Given the description of an element on the screen output the (x, y) to click on. 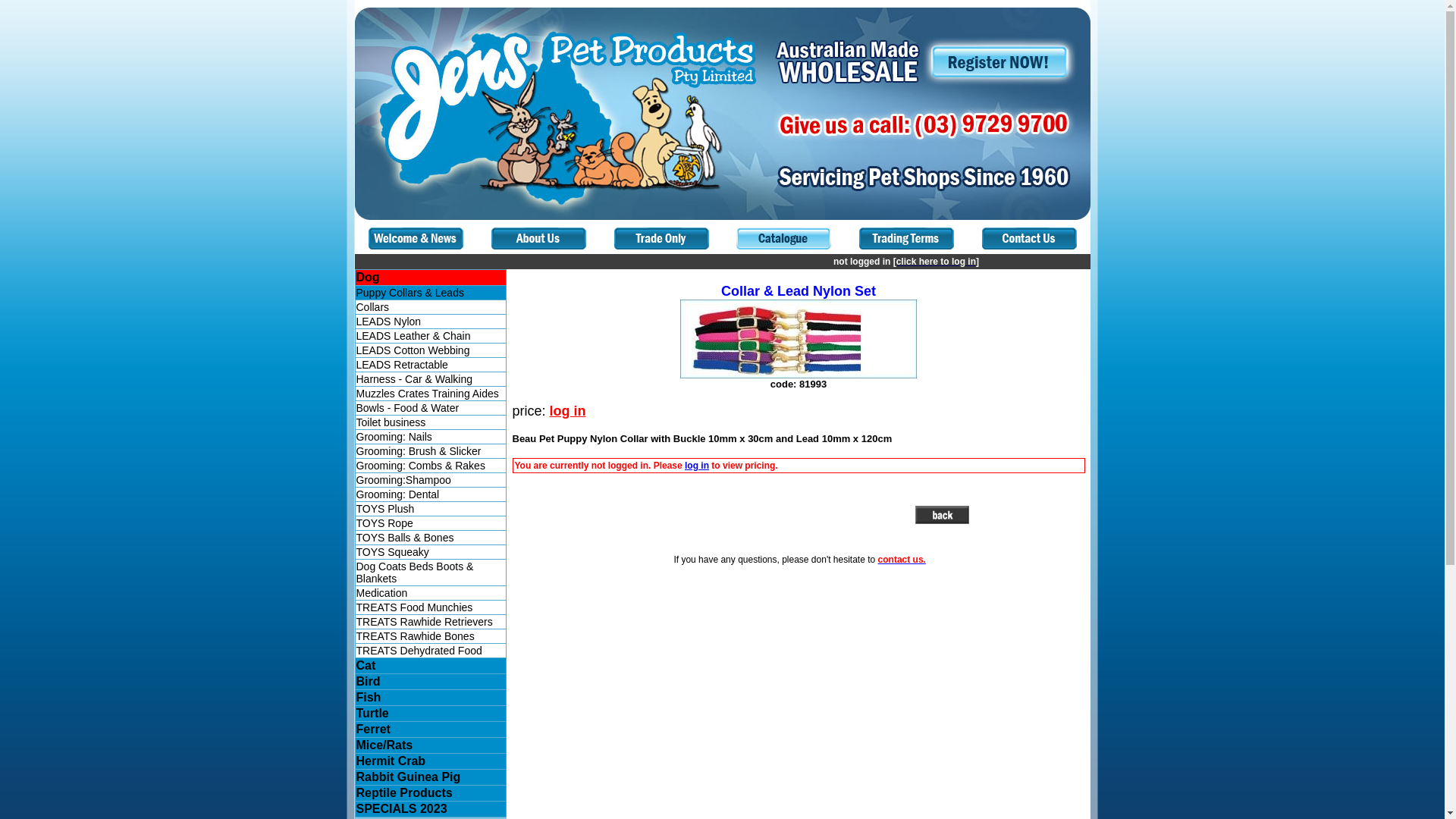
LEADS Nylon Element type: text (388, 321)
Cat Element type: text (429, 665)
Ferret Element type: text (373, 728)
Fish Element type: text (368, 696)
TOYS Balls & Bones Element type: text (405, 537)
TREATS Dehydrated Food Element type: text (429, 650)
Grooming: Brush & Slicker Element type: text (429, 451)
Mice/Rats Element type: text (429, 745)
Bird Element type: text (429, 681)
Grooming: Nails Element type: text (429, 436)
Grooming: Brush & Slicker Element type: text (418, 451)
Harness - Car & Walking Element type: text (414, 379)
log in Element type: text (567, 410)
TOYS Plush Element type: text (385, 508)
Mice/Rats Element type: text (384, 744)
Dog Coats Beds Boots & Blankets Element type: text (429, 572)
TREATS Rawhide Bones Element type: text (429, 636)
LEADS Cotton Webbing Element type: text (413, 350)
Medication Element type: text (429, 592)
Hermit Crab Element type: text (391, 760)
Toilet business Element type: text (391, 422)
Cat Element type: text (366, 664)
TREATS Dehydrated Food Element type: text (419, 650)
Collars Element type: text (429, 306)
log in Element type: text (696, 465)
LEADS Leather & Chain Element type: text (429, 335)
LEADS Retractable Element type: text (429, 364)
TREATS Food Munchies Element type: text (414, 607)
Puppy Collars & Leads Element type: text (429, 292)
contact us. Element type: text (901, 559)
LEADS Cotton Webbing Element type: text (429, 350)
Grooming:Shampoo Element type: text (429, 479)
LEADS Nylon Element type: text (429, 321)
Dog Coats Beds Boots & Blankets Element type: text (414, 572)
Grooming: Nails Element type: text (394, 436)
Grooming: Combs & Rakes Element type: text (420, 465)
Hermit Crab Element type: text (429, 760)
TOYS Rope Element type: text (384, 523)
Bowls - Food & Water Element type: text (429, 407)
SPECIALS 2023 Element type: text (429, 808)
Grooming: Dental Element type: text (397, 494)
Rabbit Guinea Pig Element type: text (408, 776)
Puppy Collars & Leads Element type: text (410, 292)
TOYS Squeaky Element type: text (429, 551)
Fish Element type: text (429, 697)
TREATS Rawhide Retrievers Element type: text (429, 621)
Reptile Products Element type: text (429, 792)
LEADS Retractable Element type: text (402, 364)
Collars Element type: text (372, 307)
Ferret Element type: text (429, 729)
TOYS Squeaky Element type: text (392, 552)
Dog Element type: text (429, 277)
Reptile Products Element type: text (404, 792)
TREATS Rawhide Retrievers Element type: text (424, 621)
Turtle Element type: text (372, 712)
TREATS Food Munchies Element type: text (429, 607)
TREATS Rawhide Bones Element type: text (415, 636)
Muzzles Crates Training Aides Element type: text (427, 393)
TOYS Balls & Bones Element type: text (429, 537)
Dog Element type: text (367, 276)
Medication Element type: text (381, 592)
Rabbit Guinea Pig Element type: text (429, 776)
Turtle Element type: text (429, 713)
LEADS Leather & Chain Element type: text (413, 335)
TOYS Rope Element type: text (429, 523)
Grooming: Combs & Rakes Element type: text (429, 465)
Muzzles Crates Training Aides Element type: text (429, 393)
TOYS Plush Element type: text (429, 508)
Toilet business Element type: text (429, 422)
[click here to log in] Element type: text (936, 261)
Grooming: Dental Element type: text (429, 494)
Grooming:Shampoo Element type: text (403, 479)
Bird Element type: text (368, 680)
SPECIALS 2023 Element type: text (401, 808)
Harness - Car & Walking Element type: text (429, 378)
Bowls - Food & Water Element type: text (407, 407)
